Given the description of an element on the screen output the (x, y) to click on. 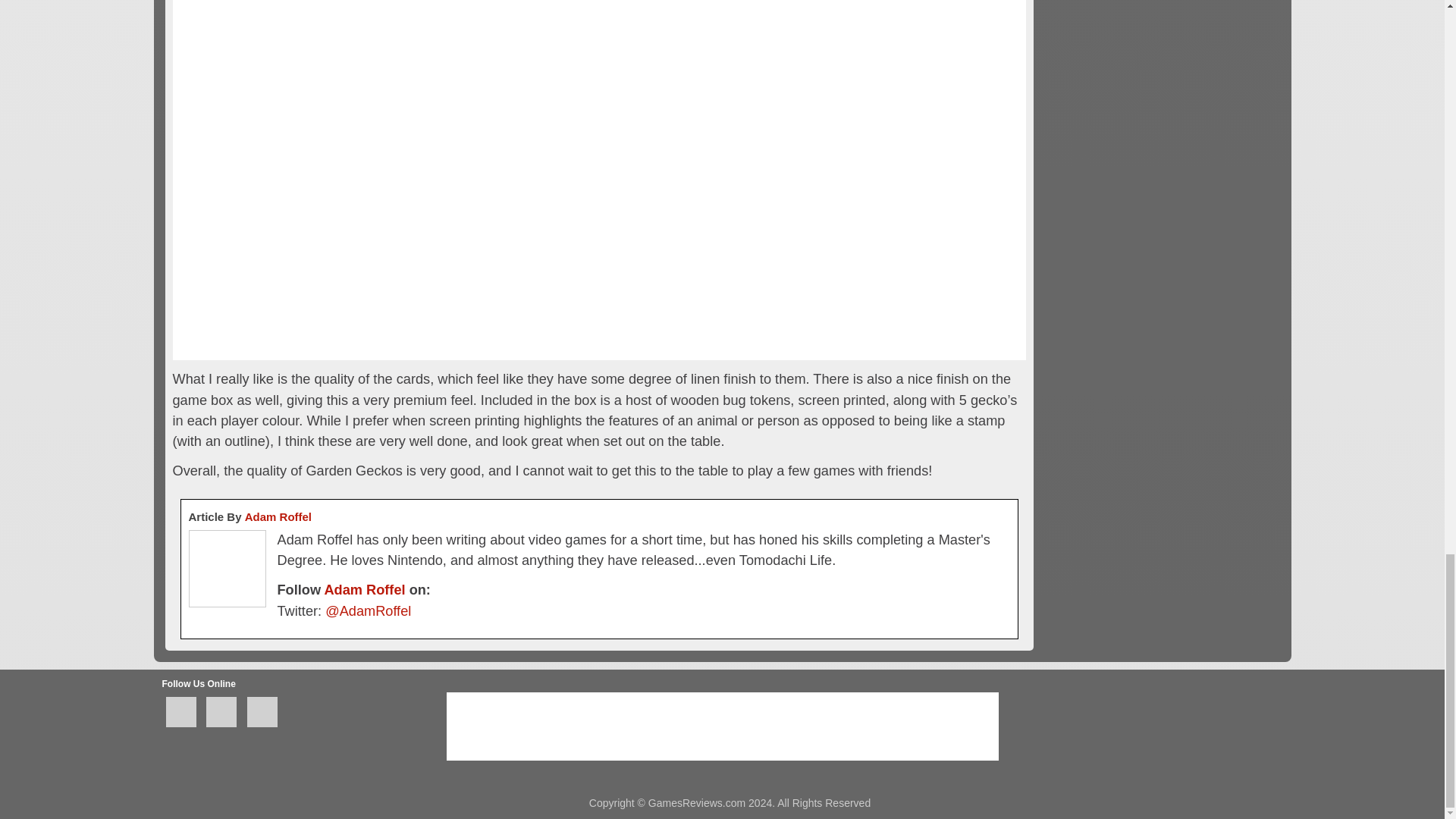
Posts by Adam Roffel (363, 589)
Follow Us On Facebook (180, 711)
Posts by Adam Roffel (277, 516)
